Given the description of an element on the screen output the (x, y) to click on. 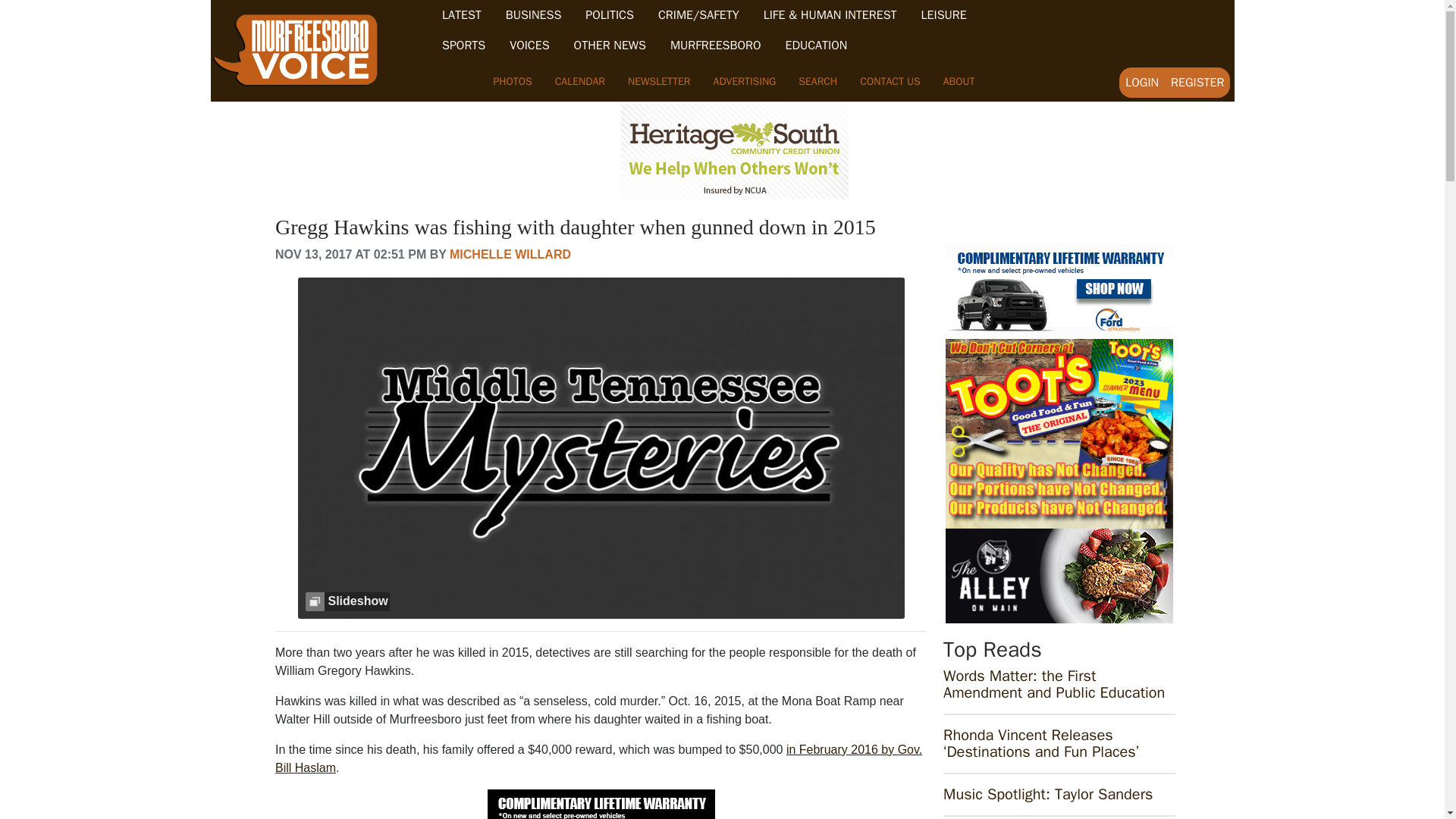
ABOUT (959, 81)
LOGIN (1141, 82)
EDUCATION (815, 45)
SEARCH (817, 81)
SPORTS (463, 45)
CONTACT US (890, 81)
MURFREESBORO (715, 45)
LEISURE (943, 14)
VOICES (528, 45)
LATEST (461, 14)
